Given the description of an element on the screen output the (x, y) to click on. 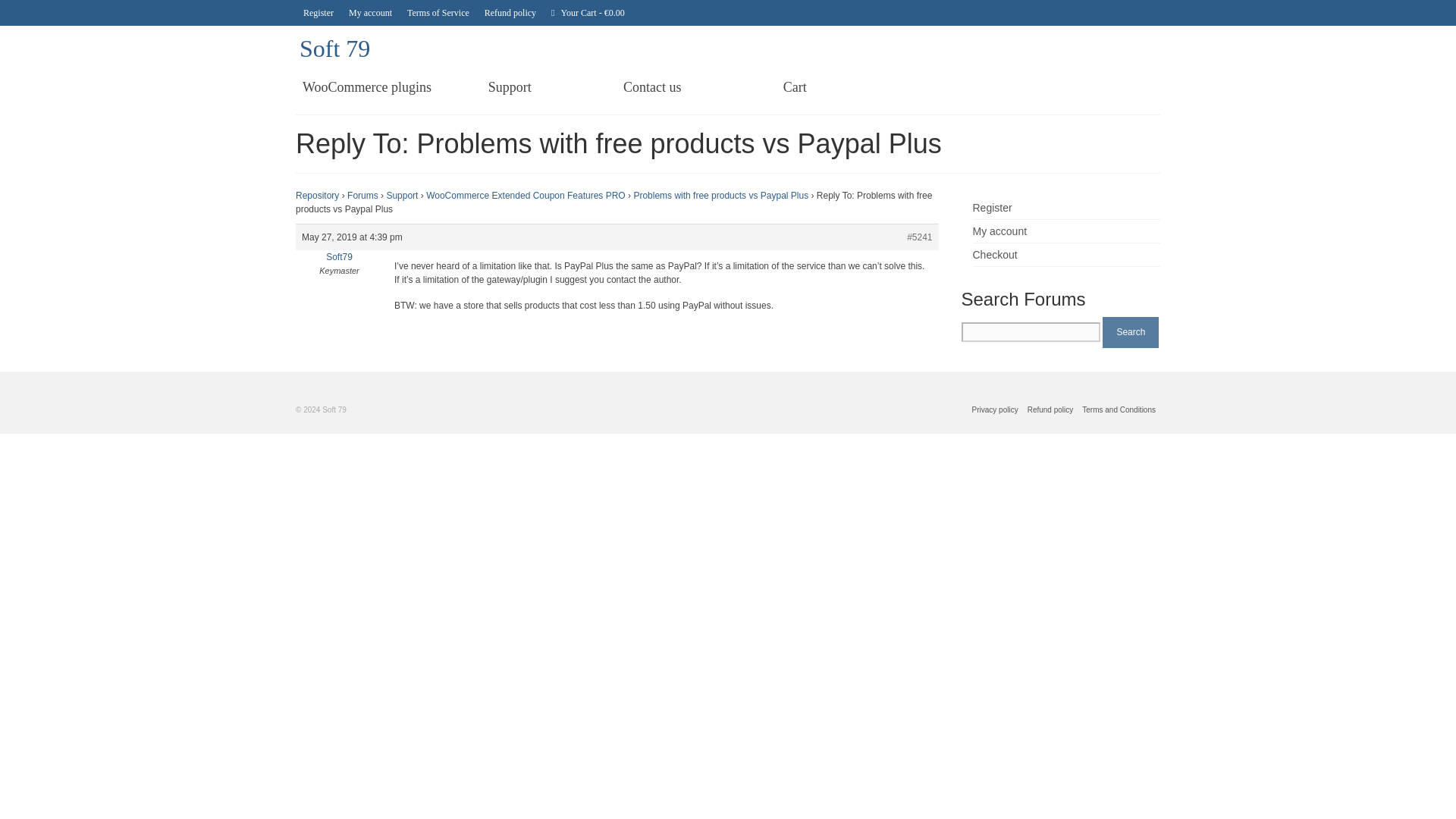
My account (999, 231)
Soft 79 (334, 48)
WooCommerce plugins (366, 87)
Search (1130, 332)
WooCommerce Extended Coupon Features PRO (526, 195)
Refund policy (1050, 410)
My account (369, 12)
Terms of Service (437, 12)
Search (1130, 332)
View your shopping cart (587, 12)
